Given the description of an element on the screen output the (x, y) to click on. 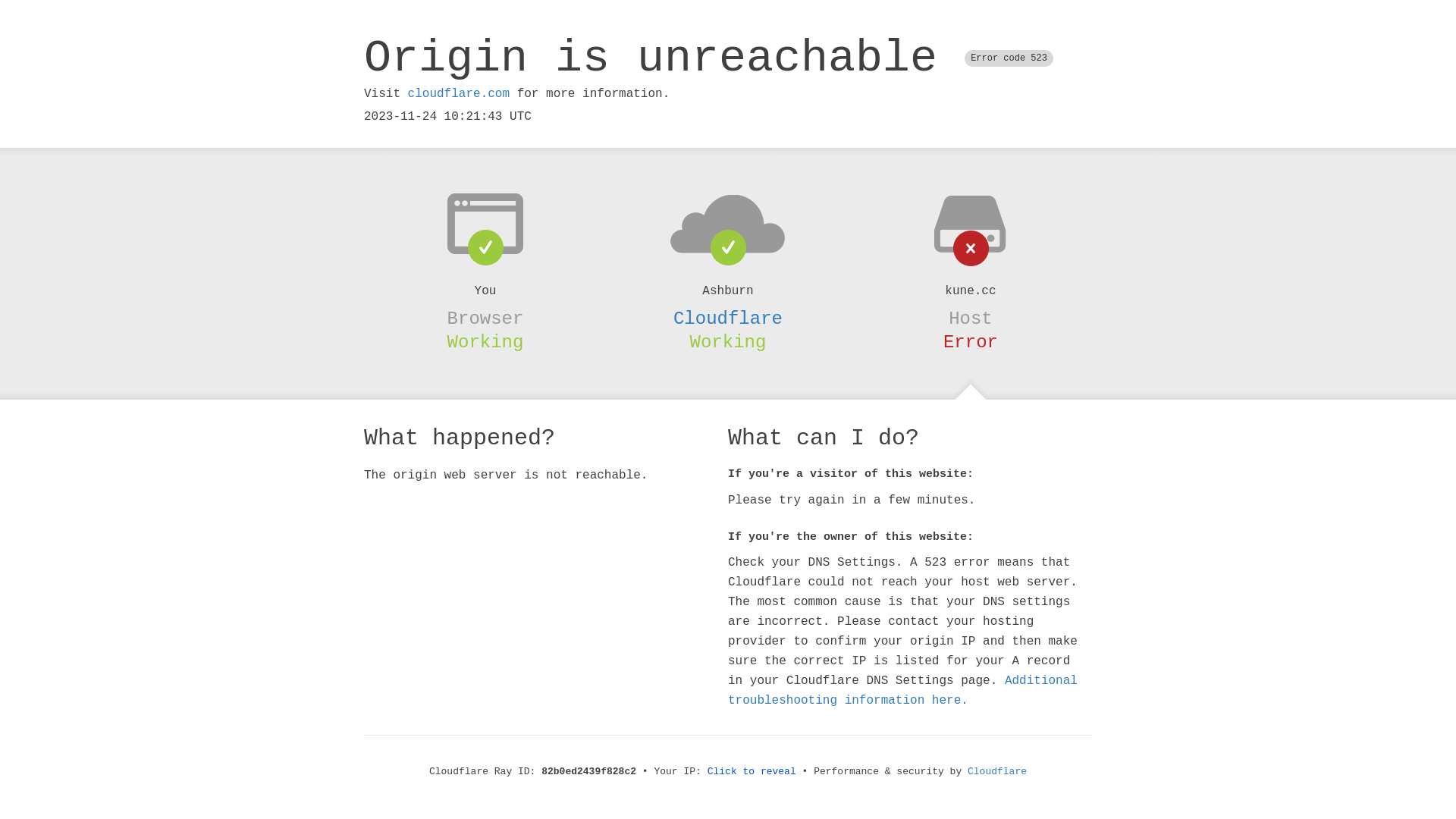
Cloudflare Element type: text (996, 771)
Additional troubleshooting information here. Element type: text (902, 690)
Cloudflare Element type: text (727, 318)
Click to reveal Element type: text (751, 771)
cloudflare.com Element type: text (458, 93)
